Given the description of an element on the screen output the (x, y) to click on. 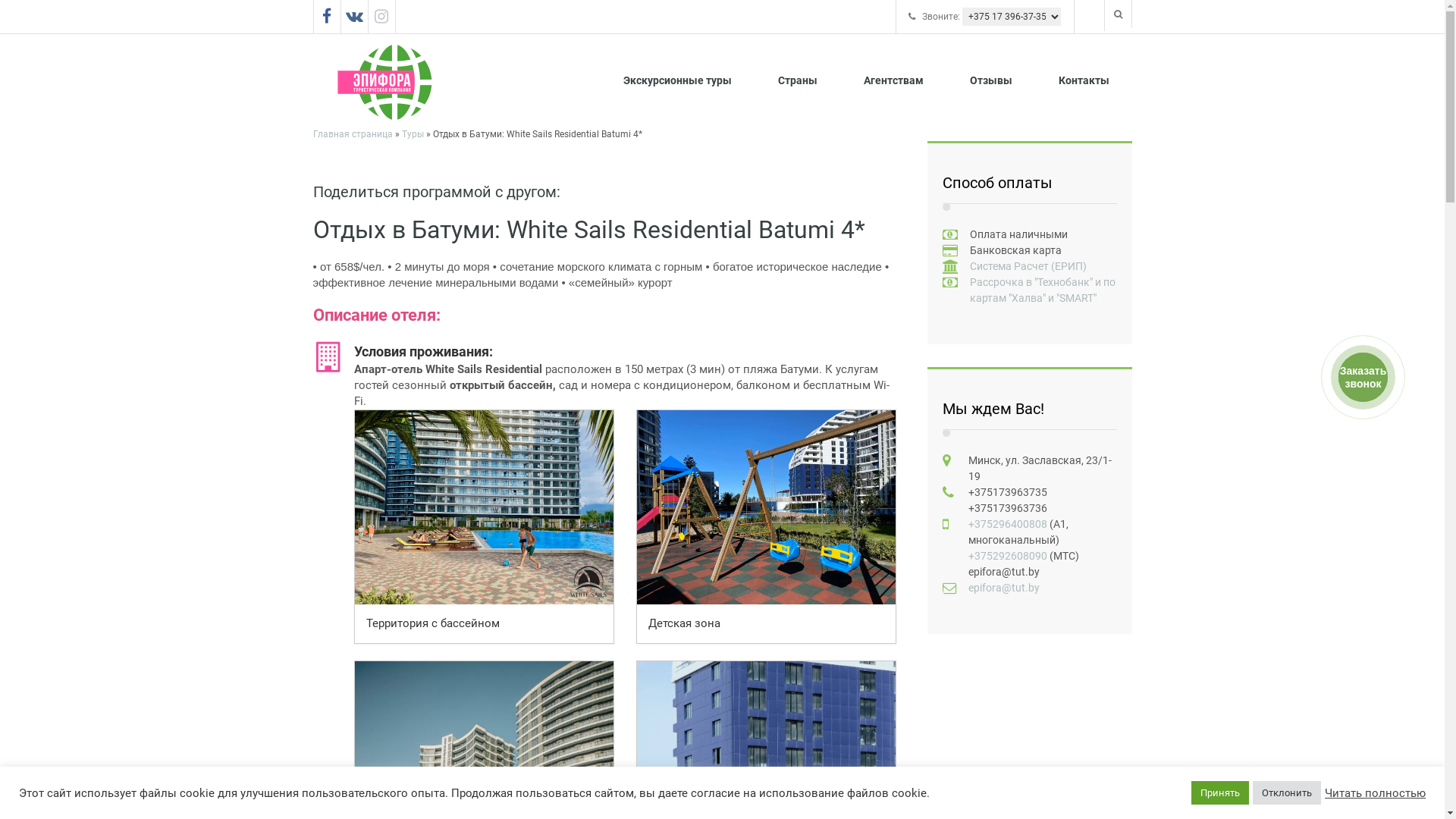
+375292608090 Element type: text (1006, 555)
epifora@tut.by Element type: text (1002, 587)
+375296400808 Element type: text (1006, 523)
